Given the description of an element on the screen output the (x, y) to click on. 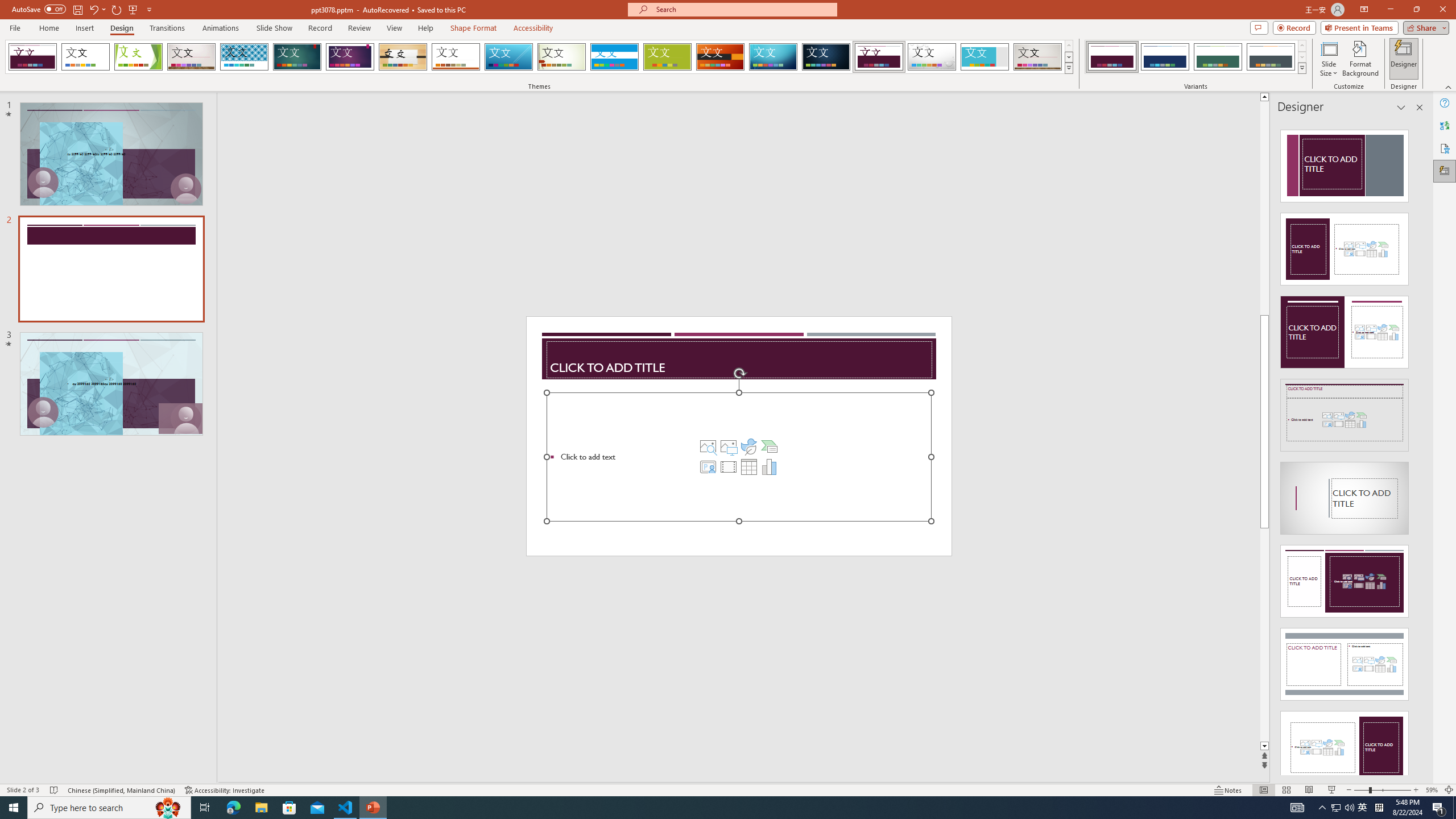
Insert an Icon (748, 446)
Banded (614, 56)
Recommended Design: Design Idea (1344, 162)
Slice (508, 56)
